Given the description of an element on the screen output the (x, y) to click on. 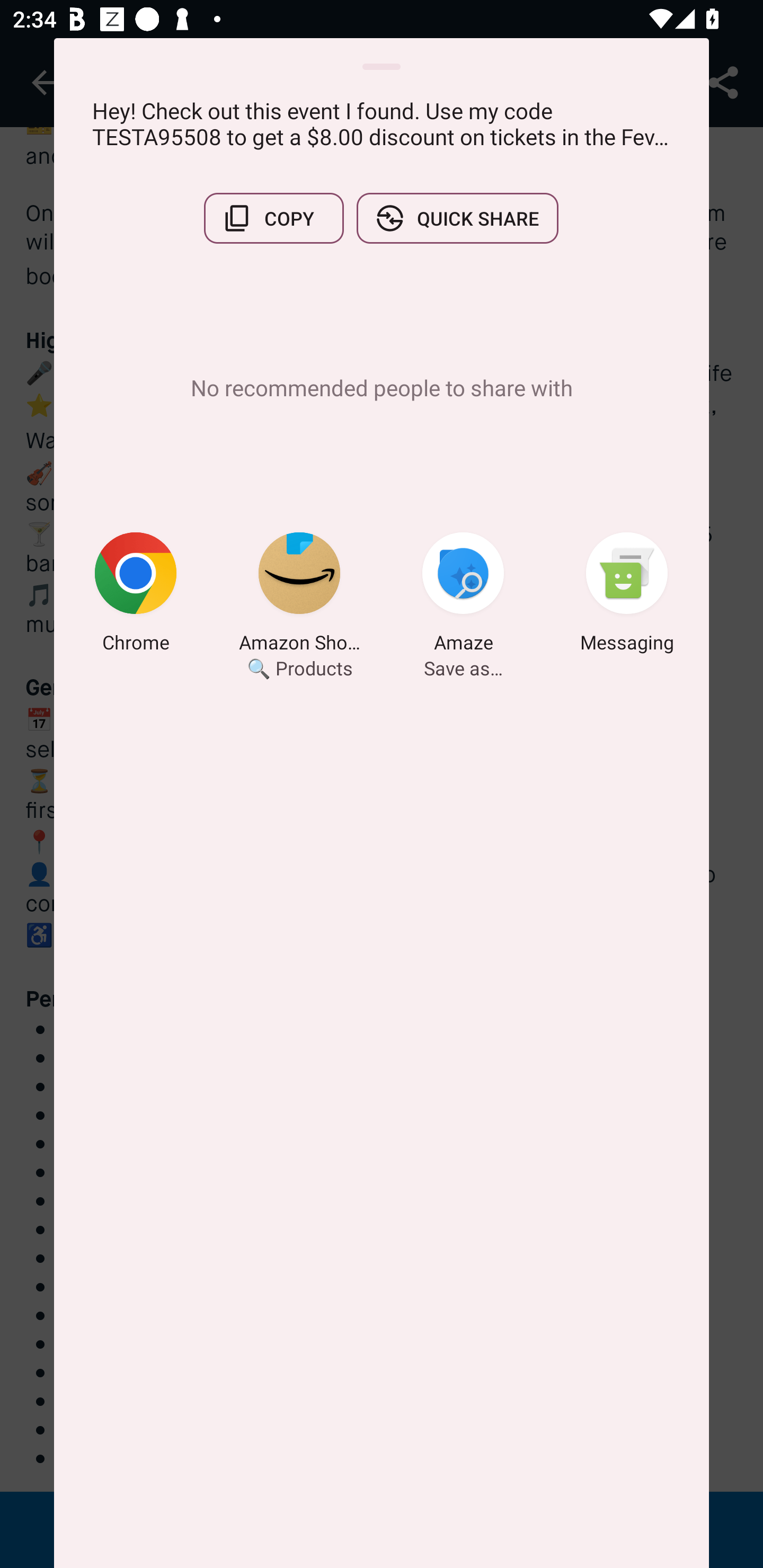
COPY (273, 218)
QUICK SHARE (457, 218)
Chrome (135, 594)
Amazon Shopping 🔍 Products (299, 594)
Amaze Save as… (463, 594)
Messaging (626, 594)
